Given the description of an element on the screen output the (x, y) to click on. 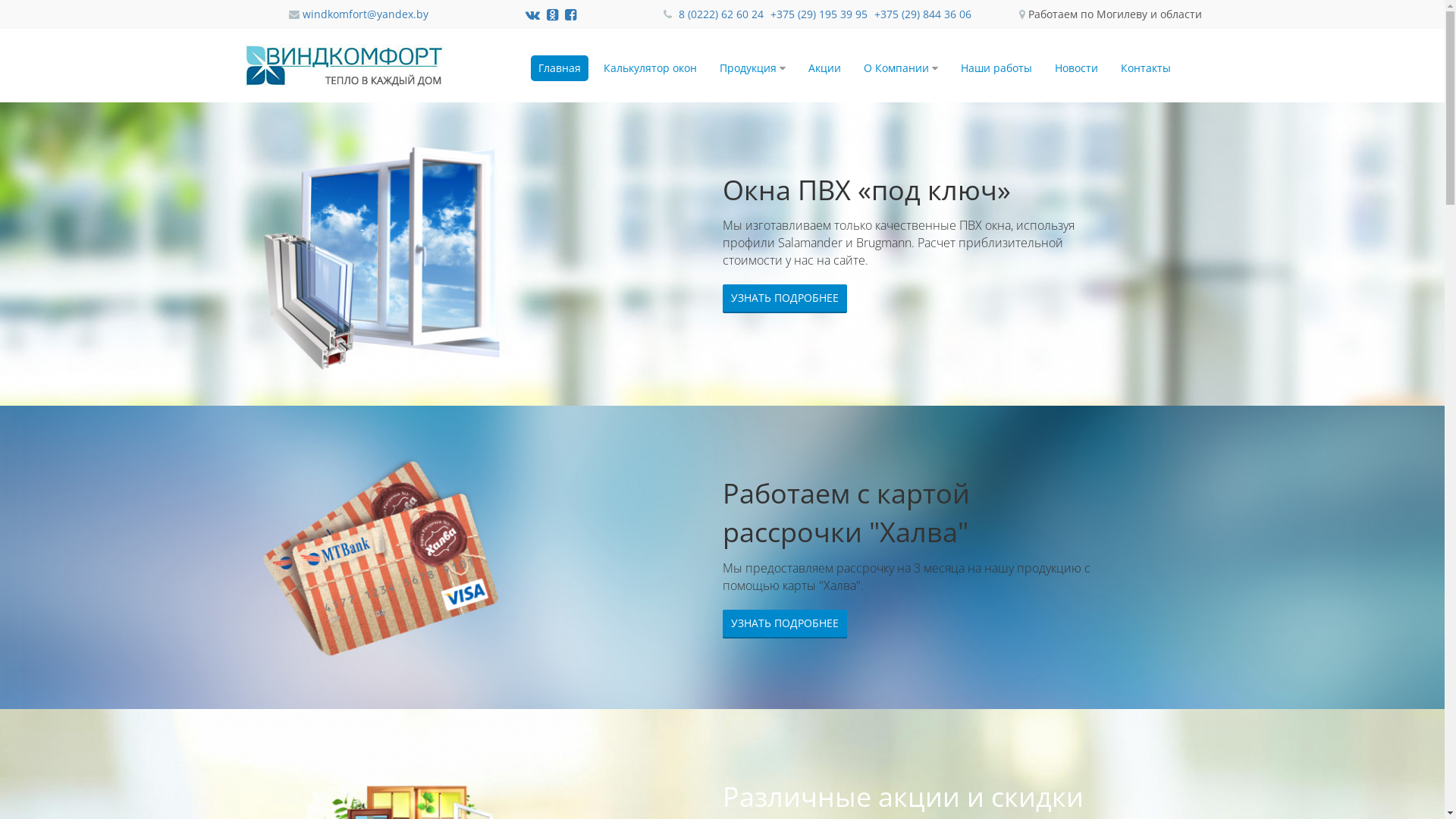
8 (0222) 62 60 24 Element type: text (722, 13)
+375 (29) 844 36 06 Element type: text (922, 13)
windkomfort@yandex.by Element type: text (364, 13)
+375 (29) 195 39 95 Element type: text (820, 13)
